Given the description of an element on the screen output the (x, y) to click on. 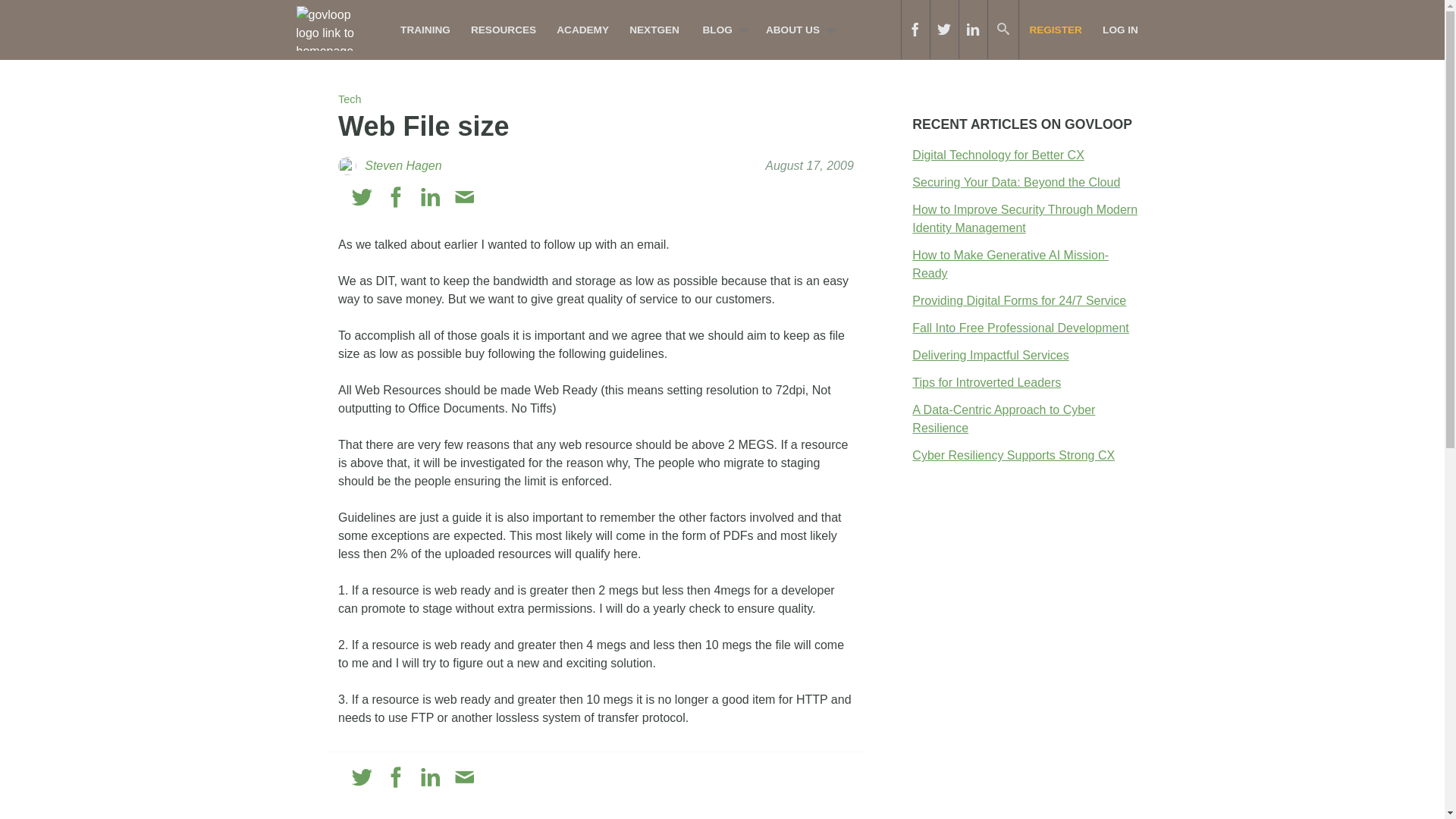
Linkedin (430, 777)
Linkedin (430, 197)
REGISTER (1056, 29)
RESOURCES (503, 29)
Email (464, 197)
Twitter (362, 197)
Tech (349, 99)
ACADEMY (583, 29)
NEXTGEN (655, 29)
Print (497, 777)
